Given the description of an element on the screen output the (x, y) to click on. 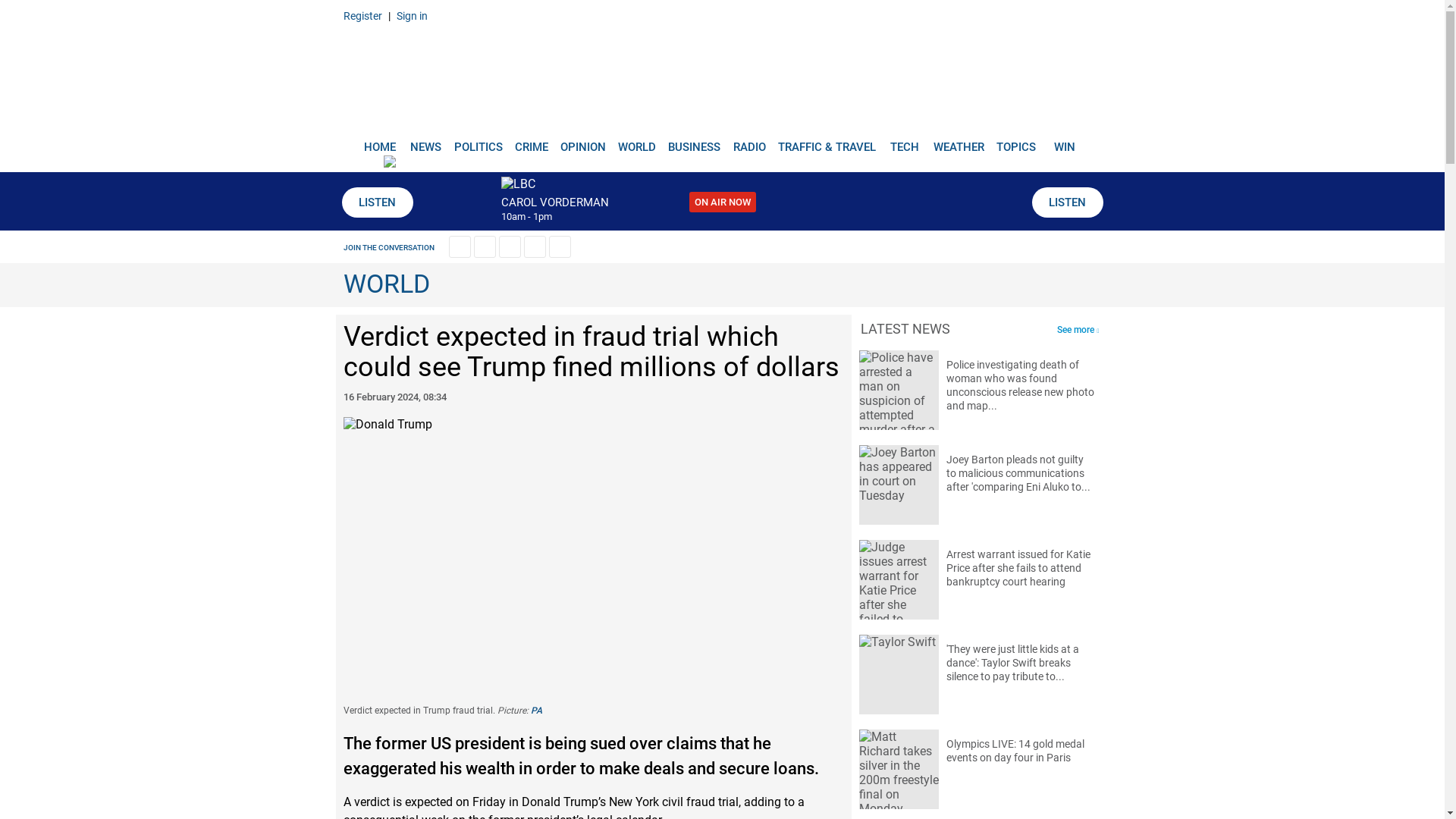
CAROL VORDERMAN (554, 202)
RADIO (748, 140)
WORLD (636, 140)
OPINION (582, 140)
TOPICS (1016, 140)
LISTEN (376, 202)
LISTEN (1066, 202)
Register (361, 15)
PA (536, 710)
CRIME (531, 140)
BUSINESS (694, 140)
WEATHER (958, 140)
POLITICS (478, 140)
Sign in (411, 15)
TECH (904, 140)
